Given the description of an element on the screen output the (x, y) to click on. 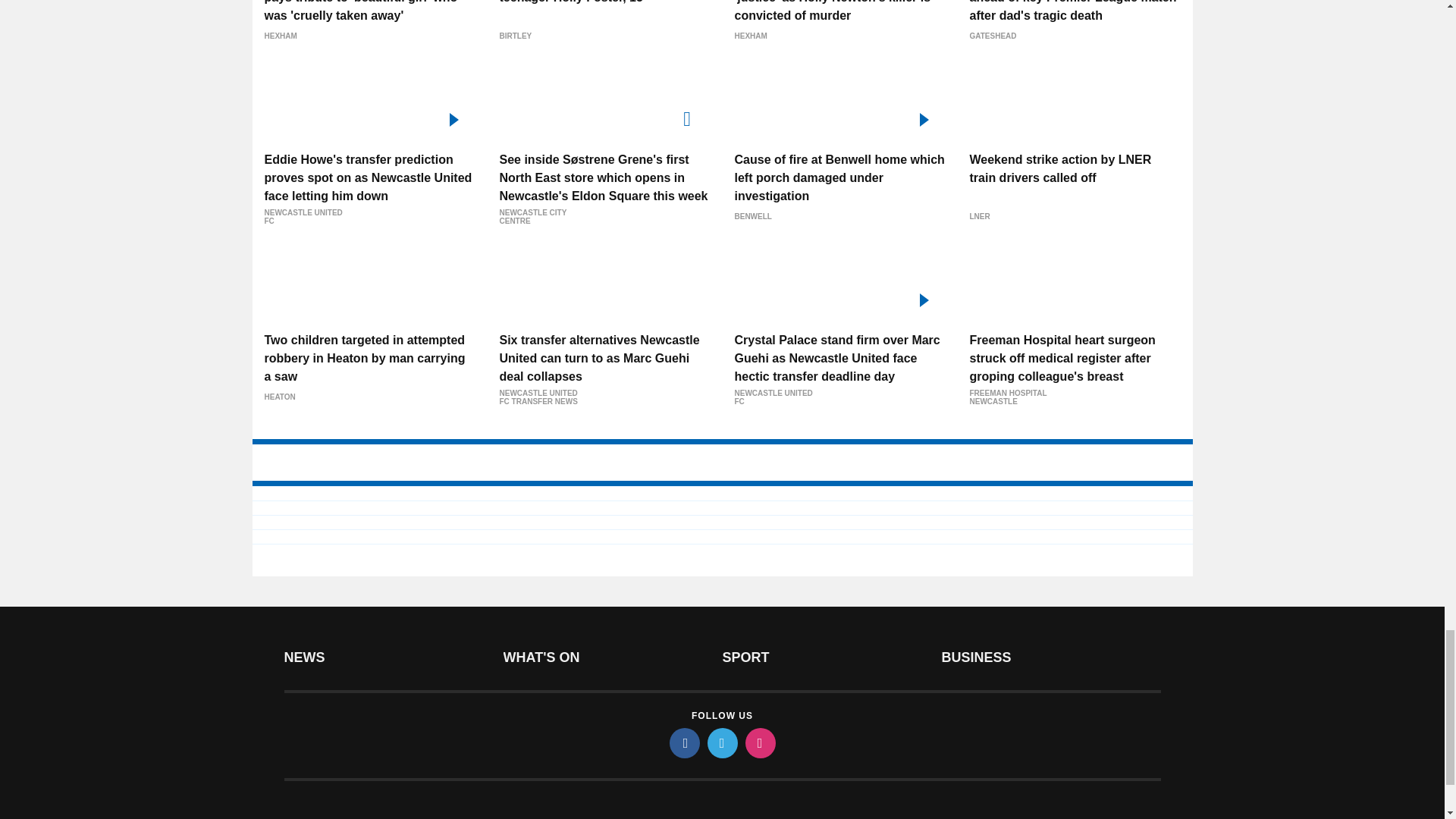
twitter (721, 743)
instagram (759, 743)
facebook (683, 743)
